Given the description of an element on the screen output the (x, y) to click on. 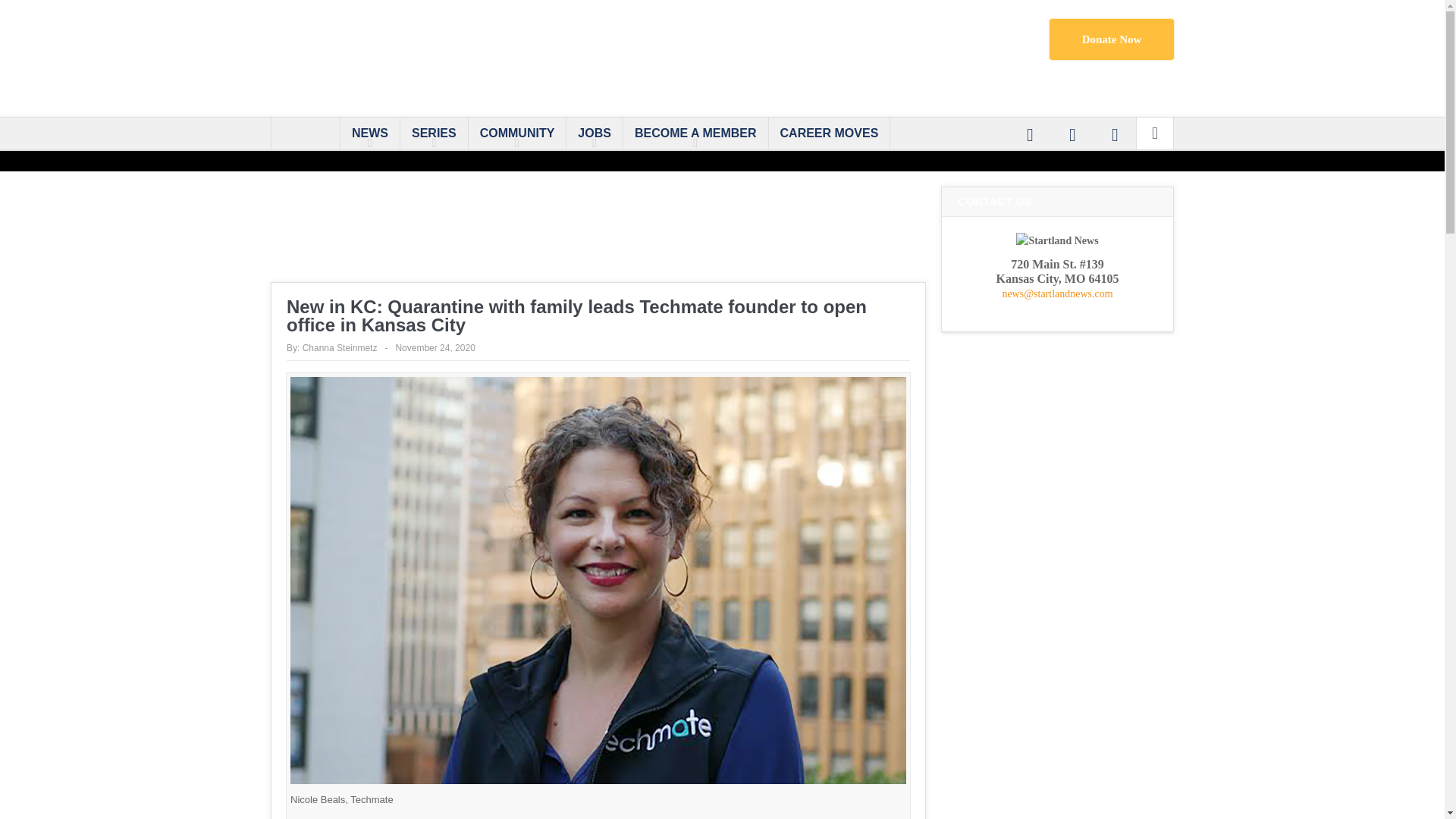
Donate Now (1111, 38)
COMMUNITY (517, 133)
SERIES (433, 133)
NEWS (369, 133)
Home (305, 133)
